Given the description of an element on the screen output the (x, y) to click on. 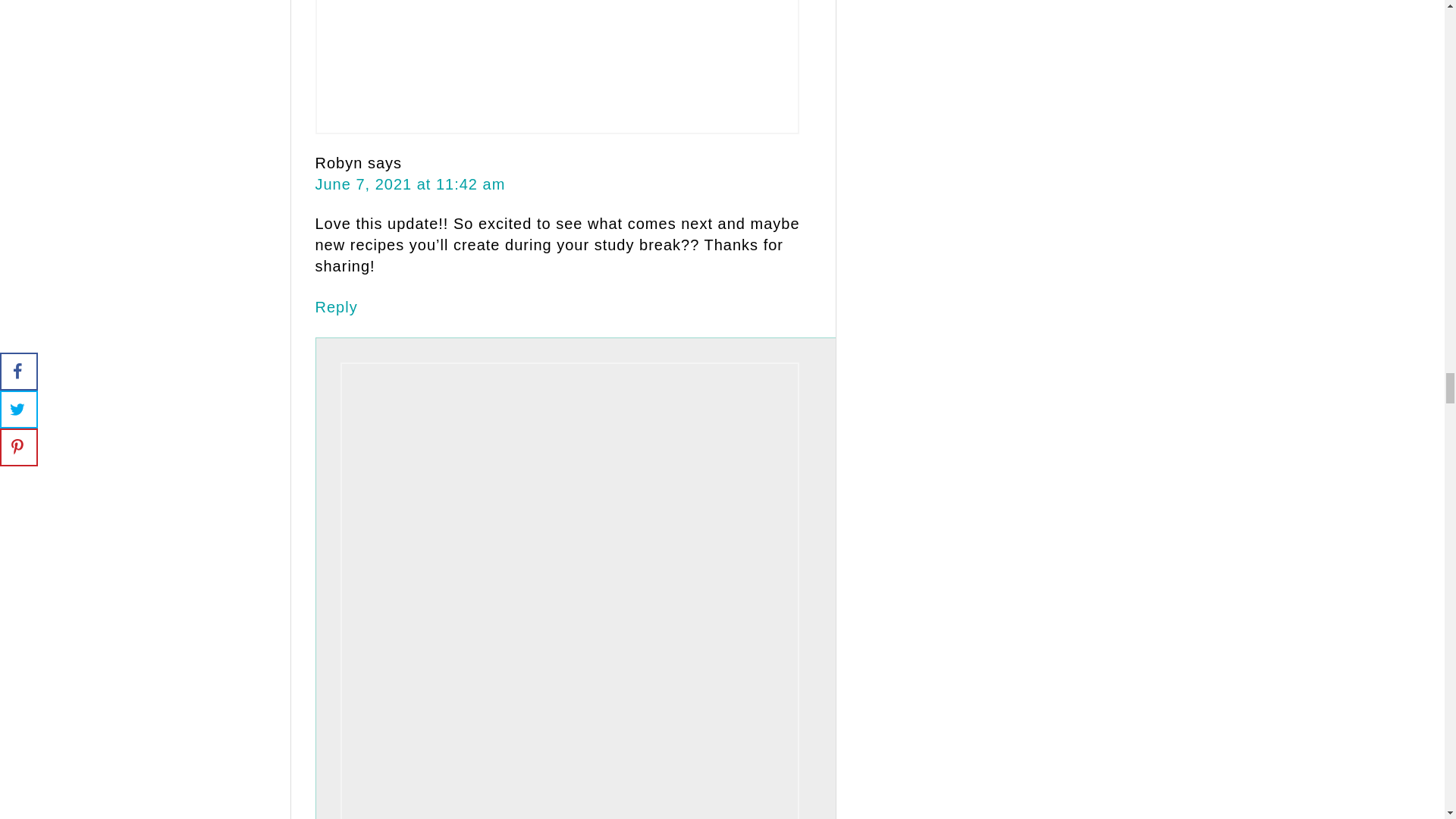
June 7, 2021 at 11:42 am (410, 184)
Reply (336, 306)
